Given the description of an element on the screen output the (x, y) to click on. 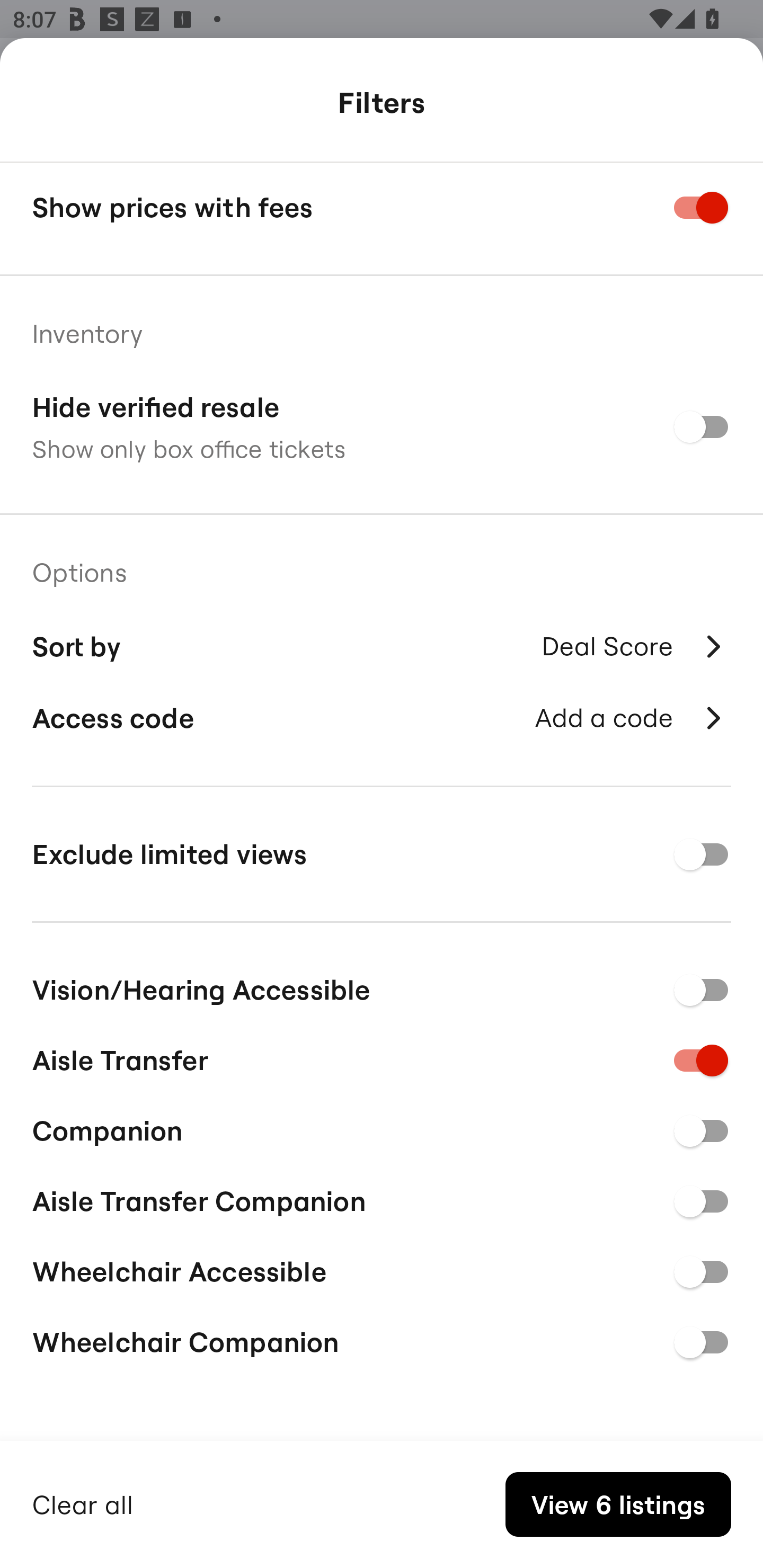
Show prices with fees (381, 207)
Hide verified resale Show only box office tickets (381, 426)
Sort by Deal Score (381, 644)
Access code Add a code (381, 717)
Exclude limited views (381, 854)
Vision/Hearing Accessible (381, 986)
Aisle Transfer (381, 1057)
Companion (381, 1127)
Aisle Transfer Companion (381, 1198)
Wheelchair Accessible (381, 1269)
Wheelchair Companion (381, 1341)
Clear all (83, 1502)
View 6 listings (617, 1504)
